Given the description of an element on the screen output the (x, y) to click on. 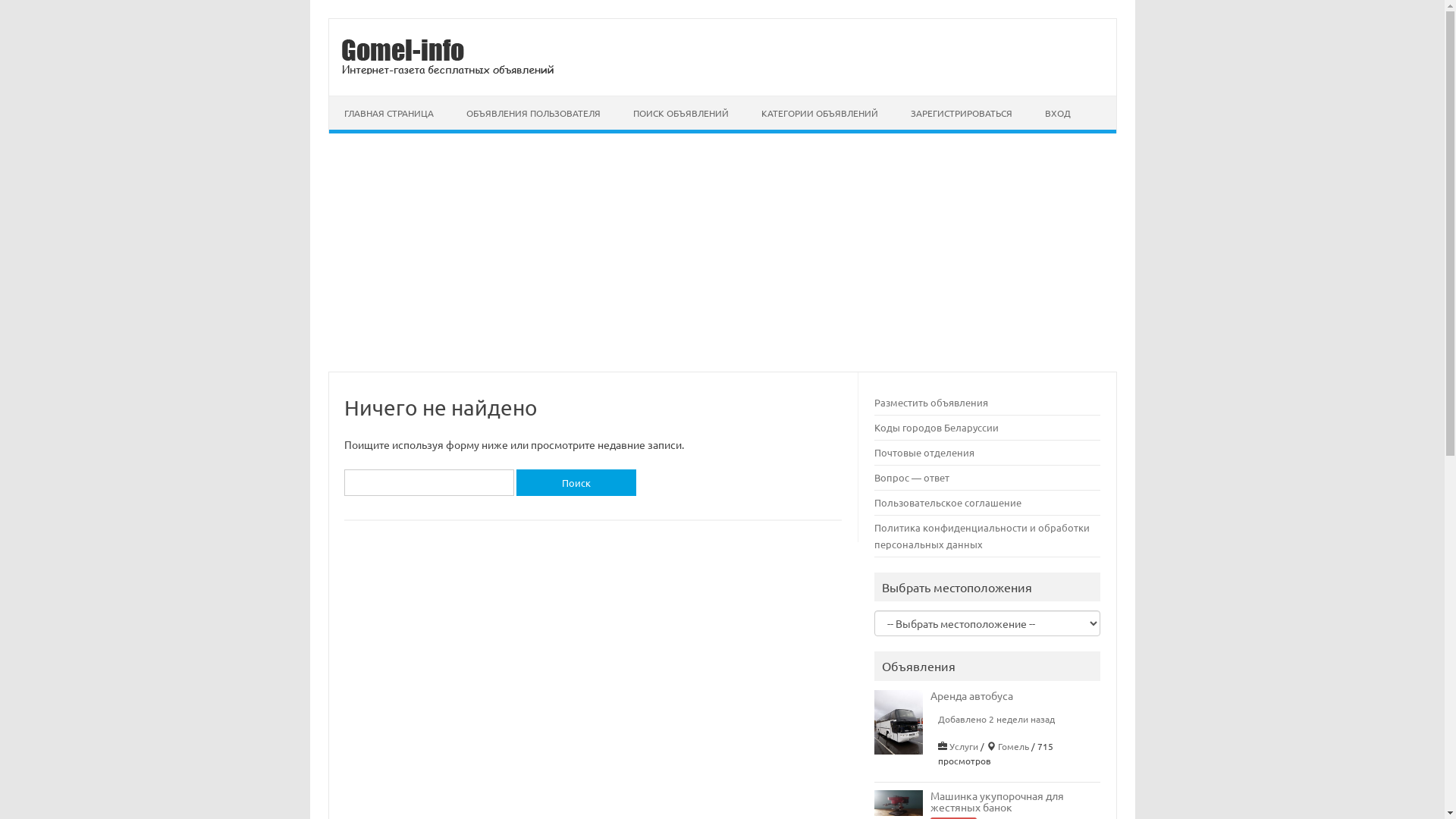
Advertisement Element type: hover (721, 257)
